Given the description of an element on the screen output the (x, y) to click on. 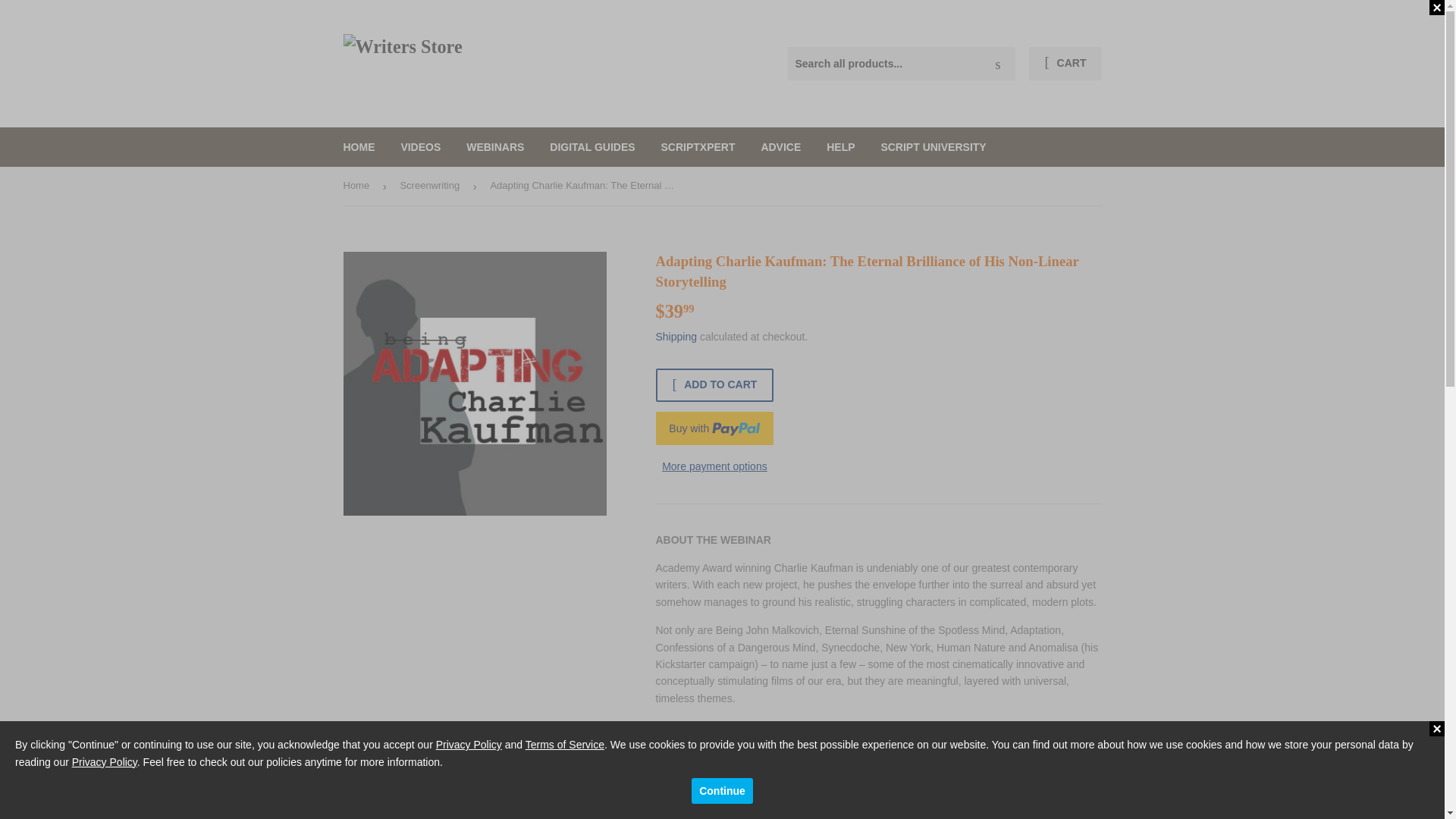
VIDEOS (419, 147)
DIGITAL GUIDES (592, 147)
Back to the frontpage (358, 186)
WEBINARS (494, 147)
HOME (359, 147)
ADD TO CART (714, 385)
CART (1064, 63)
Screenwriting (431, 186)
Shipping (676, 336)
Home (358, 186)
More payment options (714, 466)
SCRIPTXPERT (697, 147)
SCRIPT UNIVERSITY (933, 147)
Search (997, 64)
ADVICE (780, 147)
